Given the description of an element on the screen output the (x, y) to click on. 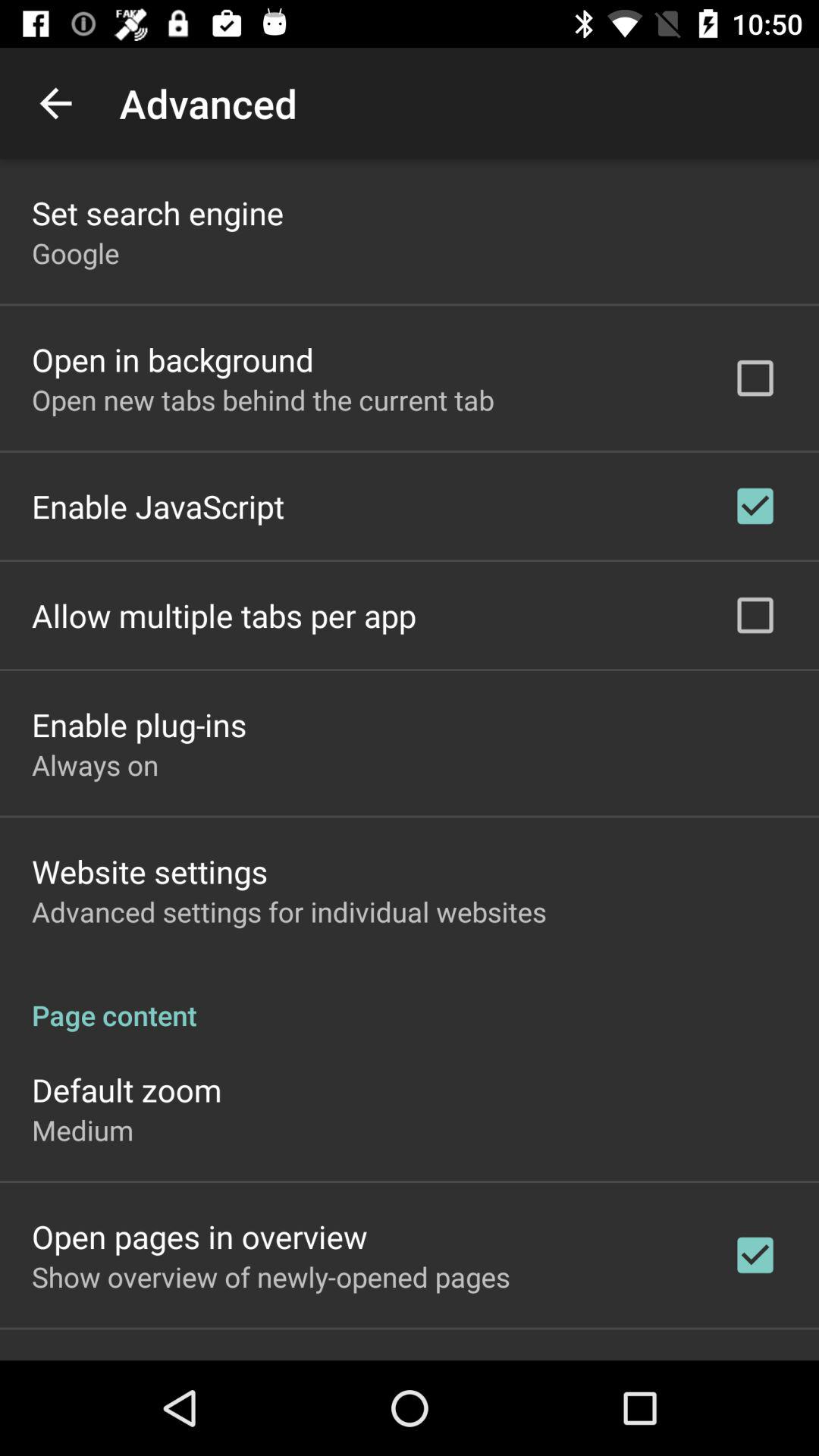
tap the item next to advanced item (55, 103)
